Given the description of an element on the screen output the (x, y) to click on. 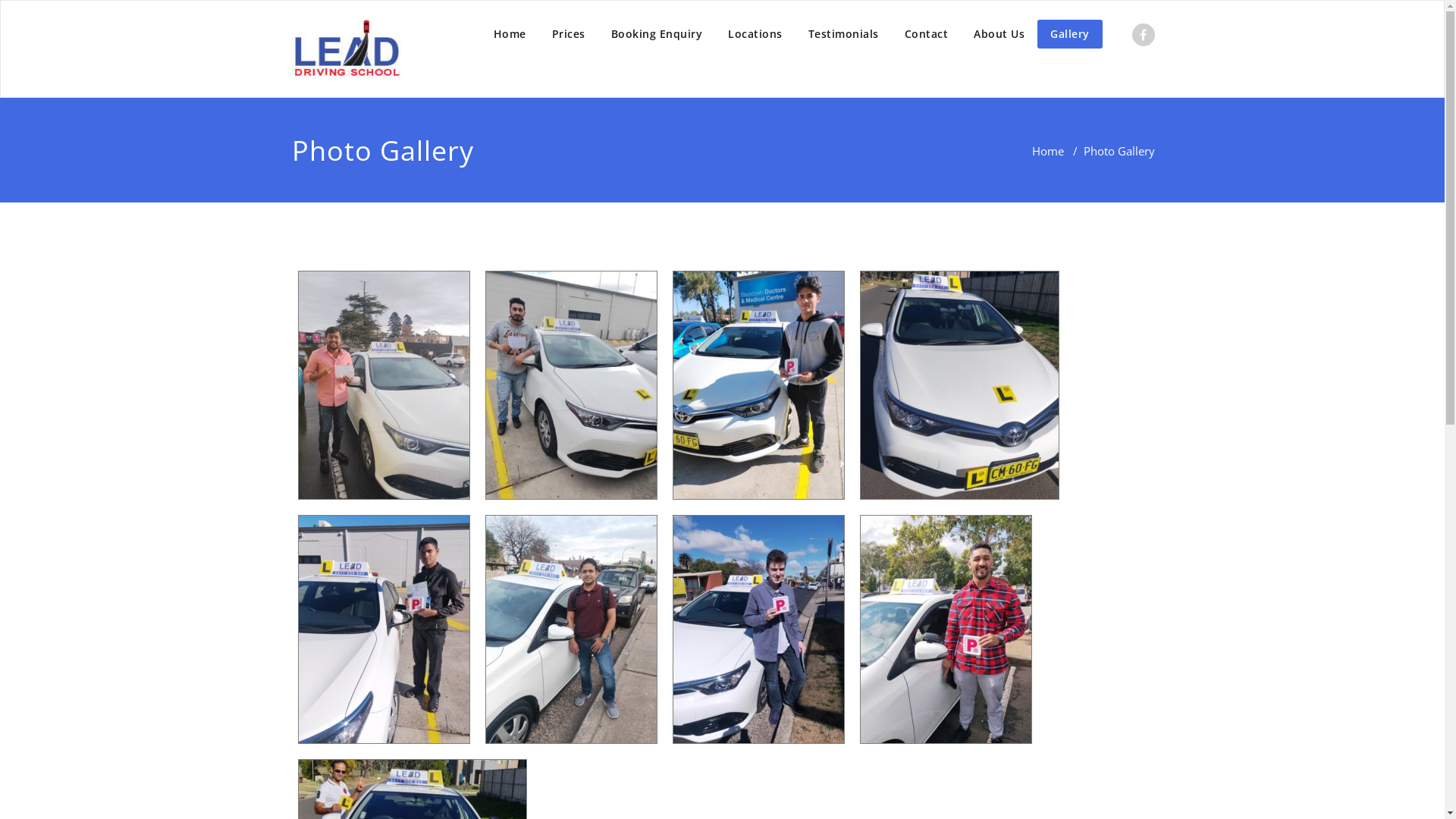
About Us Element type: text (998, 33)
Booking Enquiry Element type: text (656, 33)
Prices Element type: text (567, 33)
Gallery Element type: text (1069, 33)
Home Element type: text (1047, 150)
final-logo-red-car-200by133 Element type: hover (346, 48)
Testimonials Element type: text (842, 33)
Home Element type: text (509, 33)
Locations Element type: text (755, 33)
Contact Element type: text (926, 33)
